Given the description of an element on the screen output the (x, y) to click on. 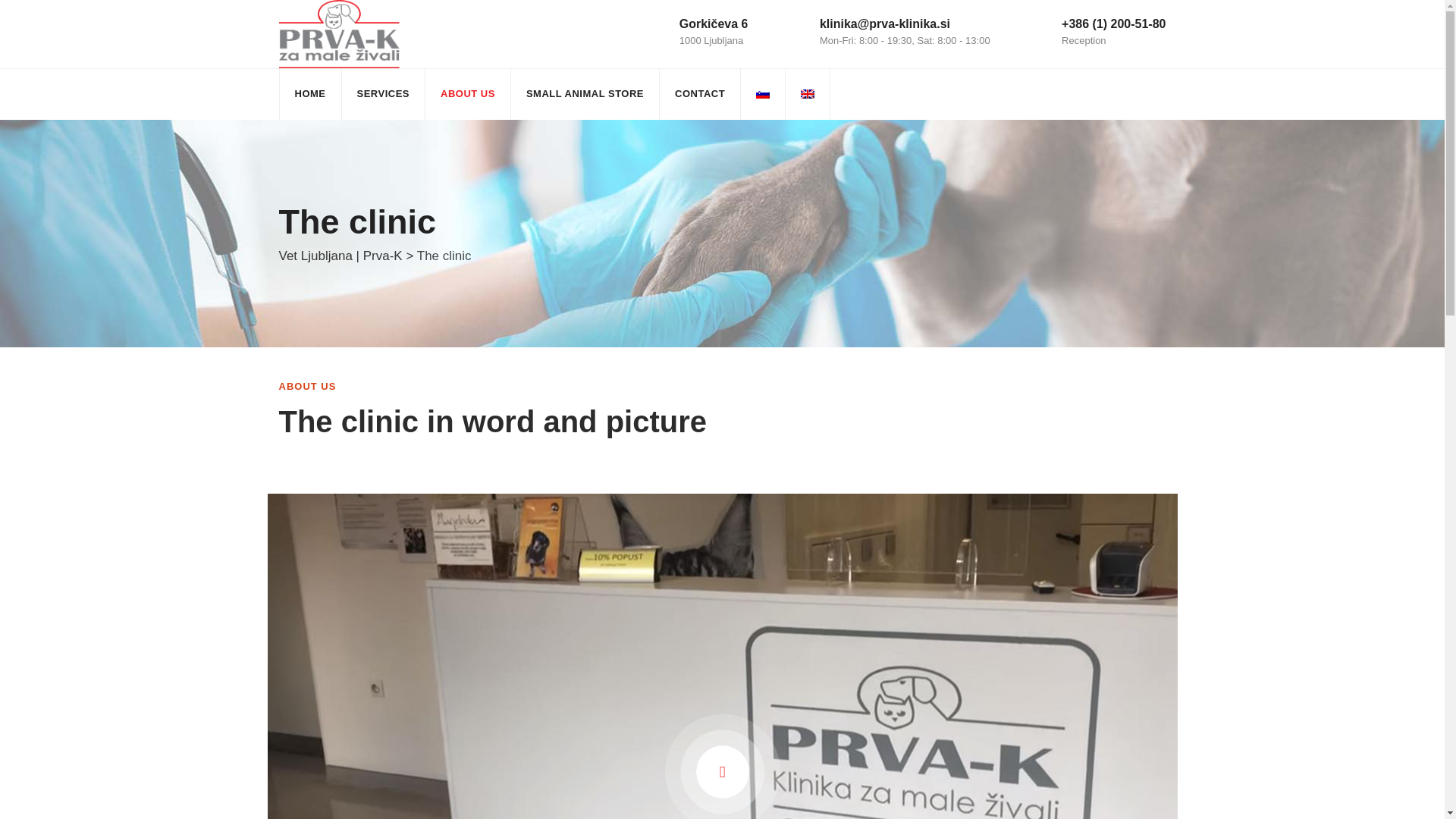
ABOUT US (468, 93)
CONTACT (700, 93)
SERVICES (382, 93)
SMALL ANIMAL STORE (584, 93)
